Given the description of an element on the screen output the (x, y) to click on. 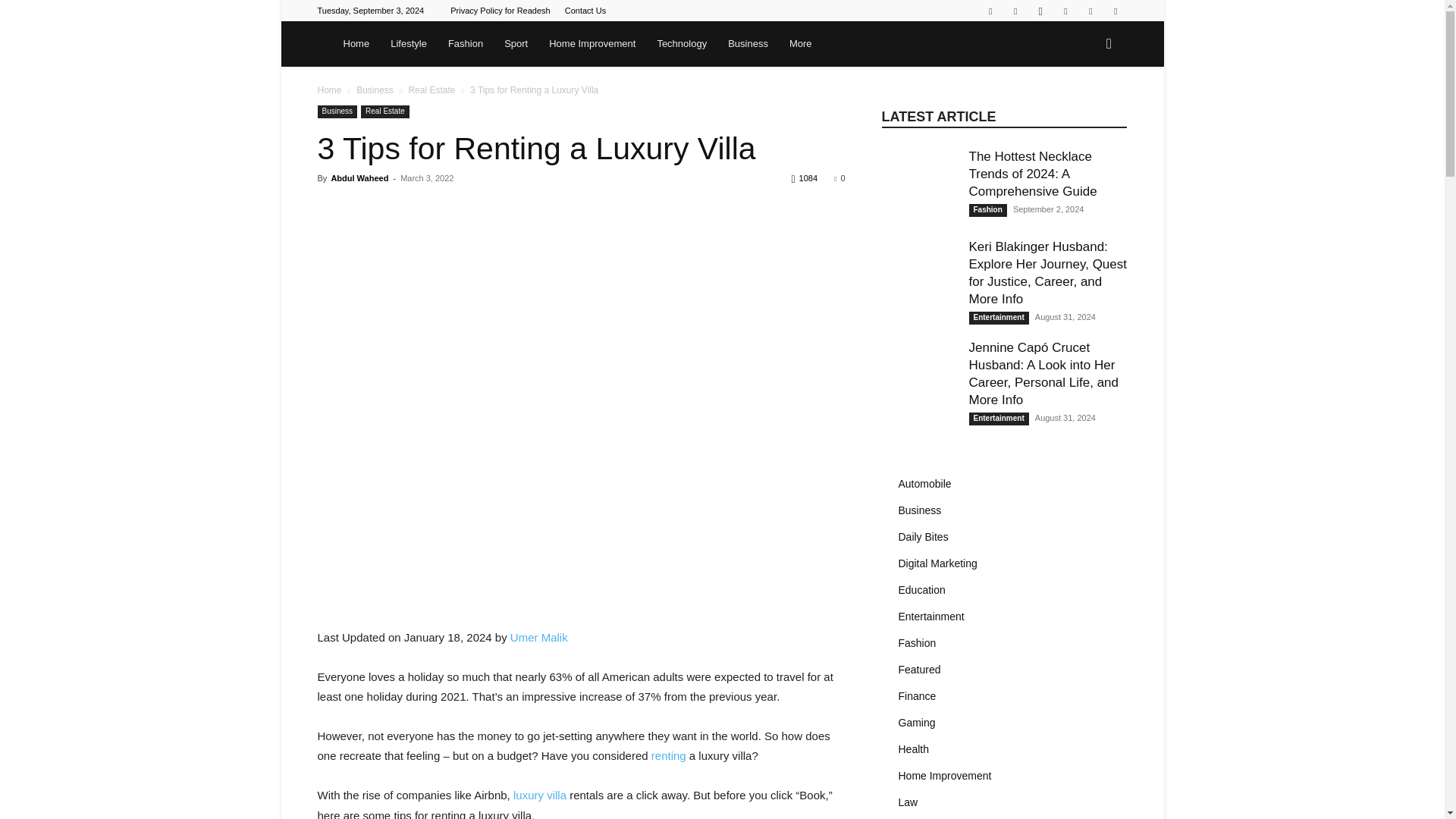
Twitter (1065, 10)
Instagram (1040, 10)
Behance (989, 10)
Facebook (1015, 10)
Privacy Policy for Readesh (499, 10)
Vimeo (1090, 10)
VKontakte (1114, 10)
Contact Us (584, 10)
